Given the description of an element on the screen output the (x, y) to click on. 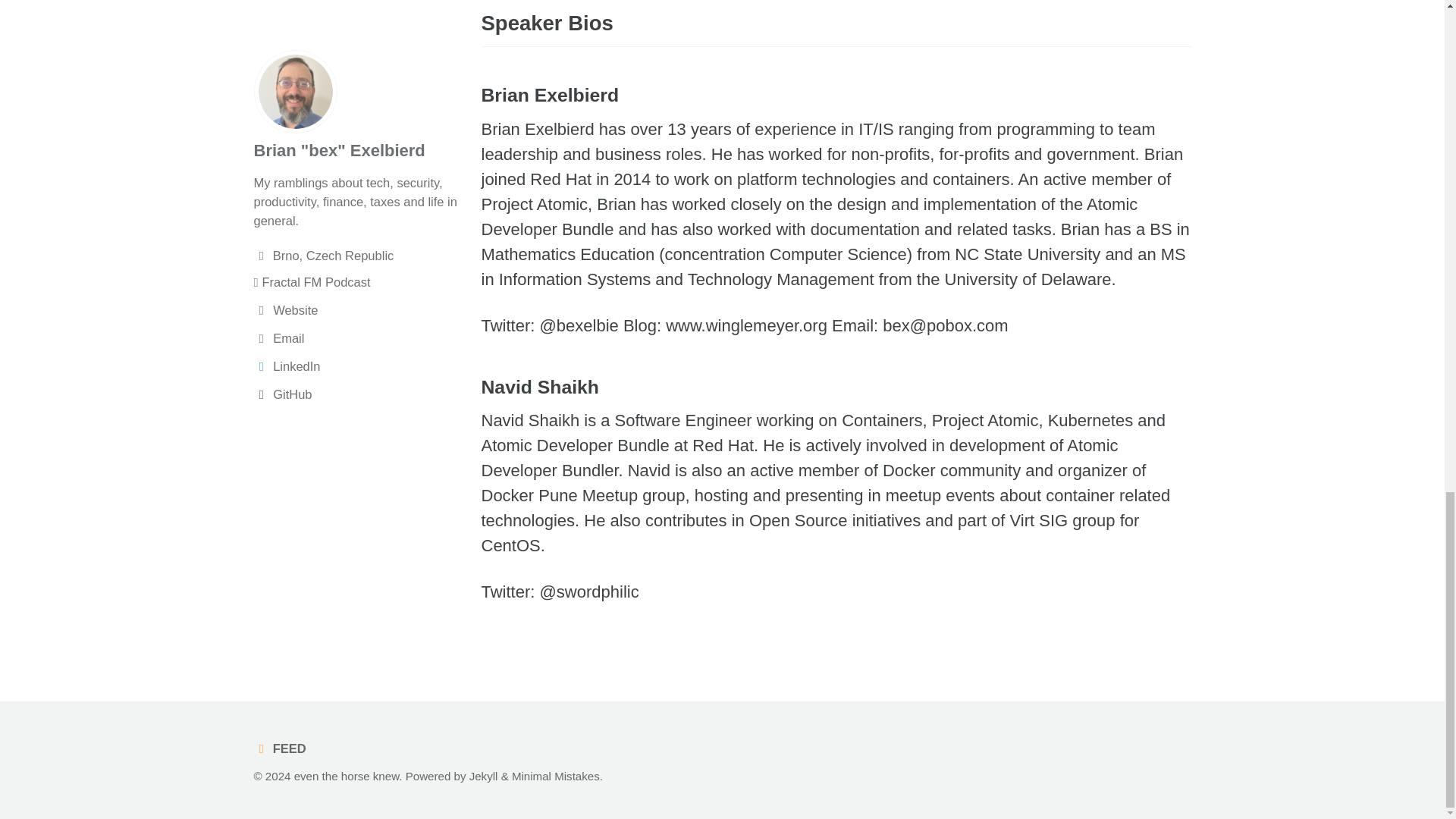
even the horse knew (346, 775)
FEED (283, 748)
Minimal Mistakes (555, 775)
Jekyll (482, 775)
